Given the description of an element on the screen output the (x, y) to click on. 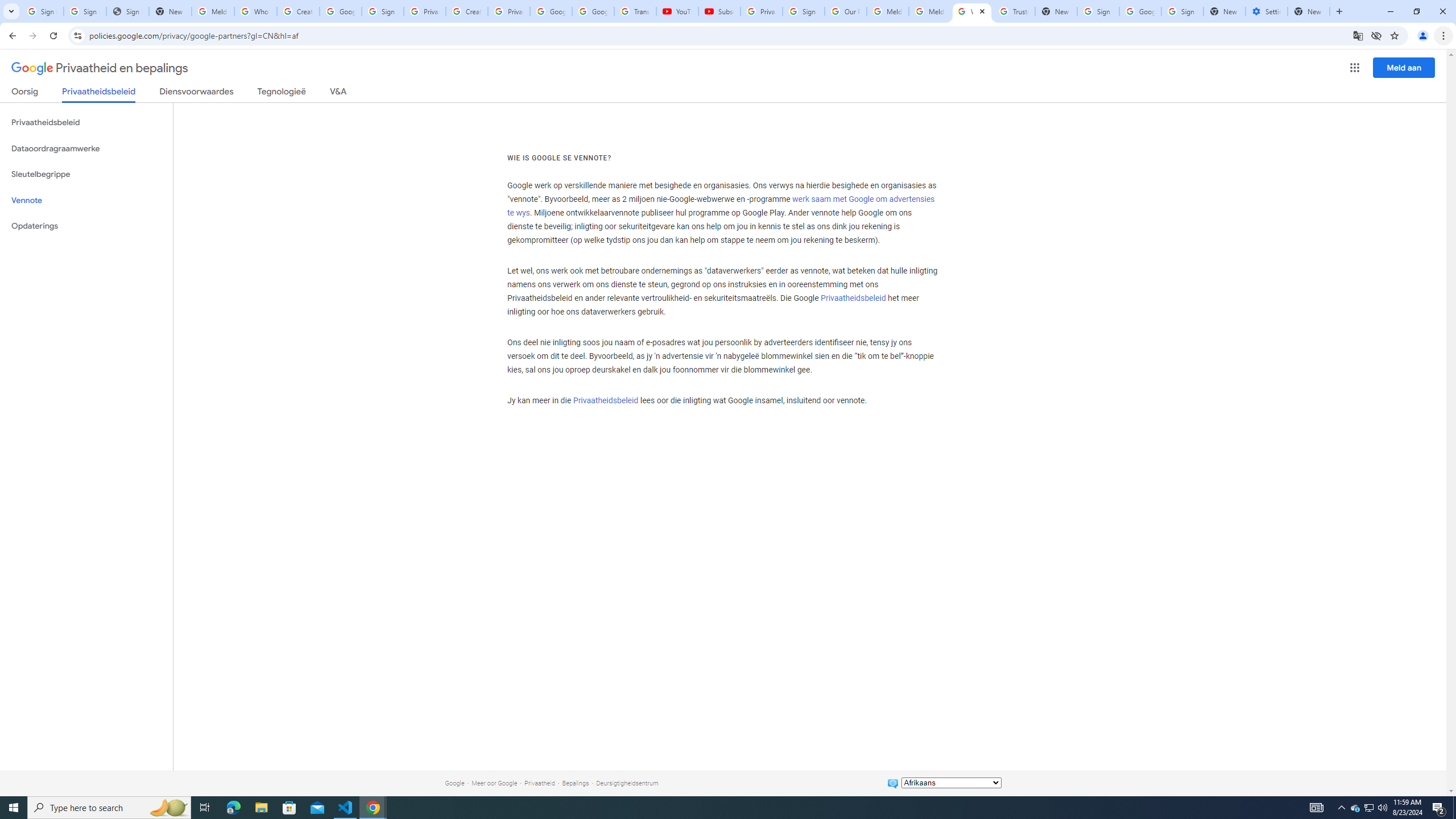
Sign in - Google Accounts (1182, 11)
Sign in - Google Accounts (803, 11)
Sign in - Google Accounts (42, 11)
Privaatheid (539, 783)
